Given the description of an element on the screen output the (x, y) to click on. 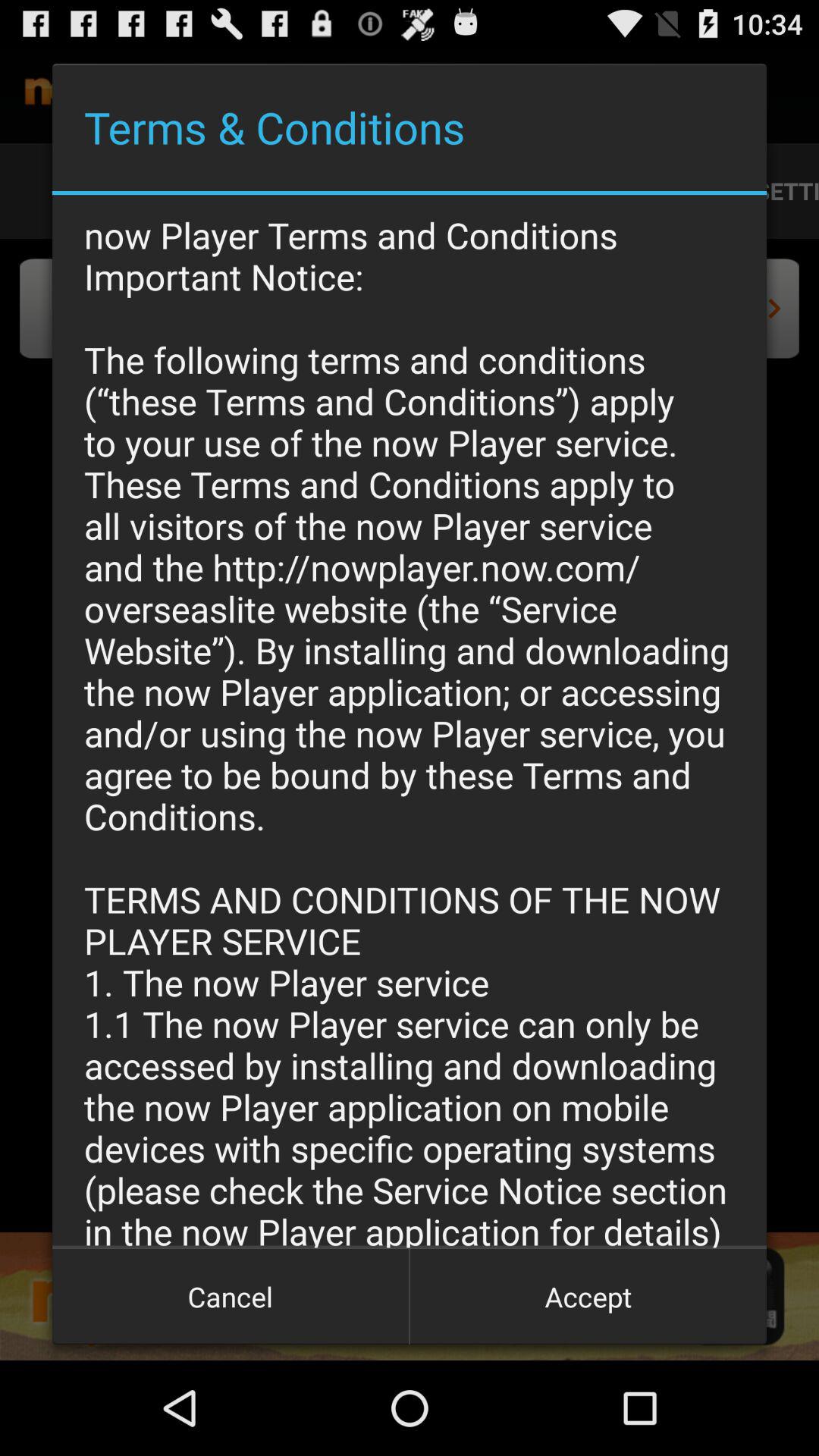
open cancel button (230, 1296)
